Given the description of an element on the screen output the (x, y) to click on. 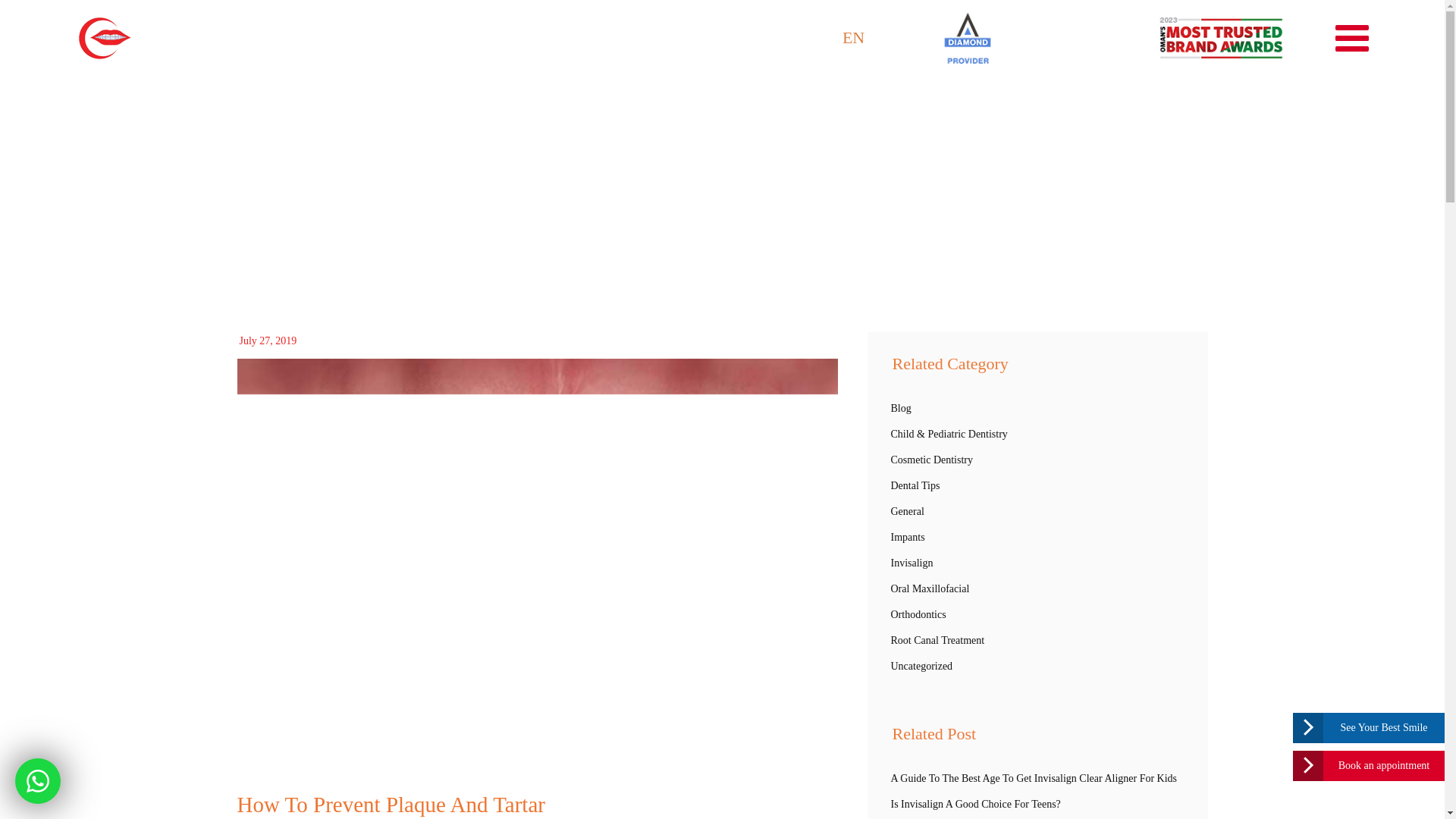
Cosmetic Dentistry (1037, 460)
Is Invisalign A Good Choice For Teens? (1037, 804)
Search (722, 754)
Invisalign (1037, 563)
Dental Tips (1037, 485)
Blog (1037, 408)
Orthodontics (1037, 614)
Impants (1037, 537)
English (861, 36)
Oral Maxillofacial (1037, 588)
General (1037, 511)
Uncategorized (1037, 666)
Root Canal Treatment (1037, 640)
